Given the description of an element on the screen output the (x, y) to click on. 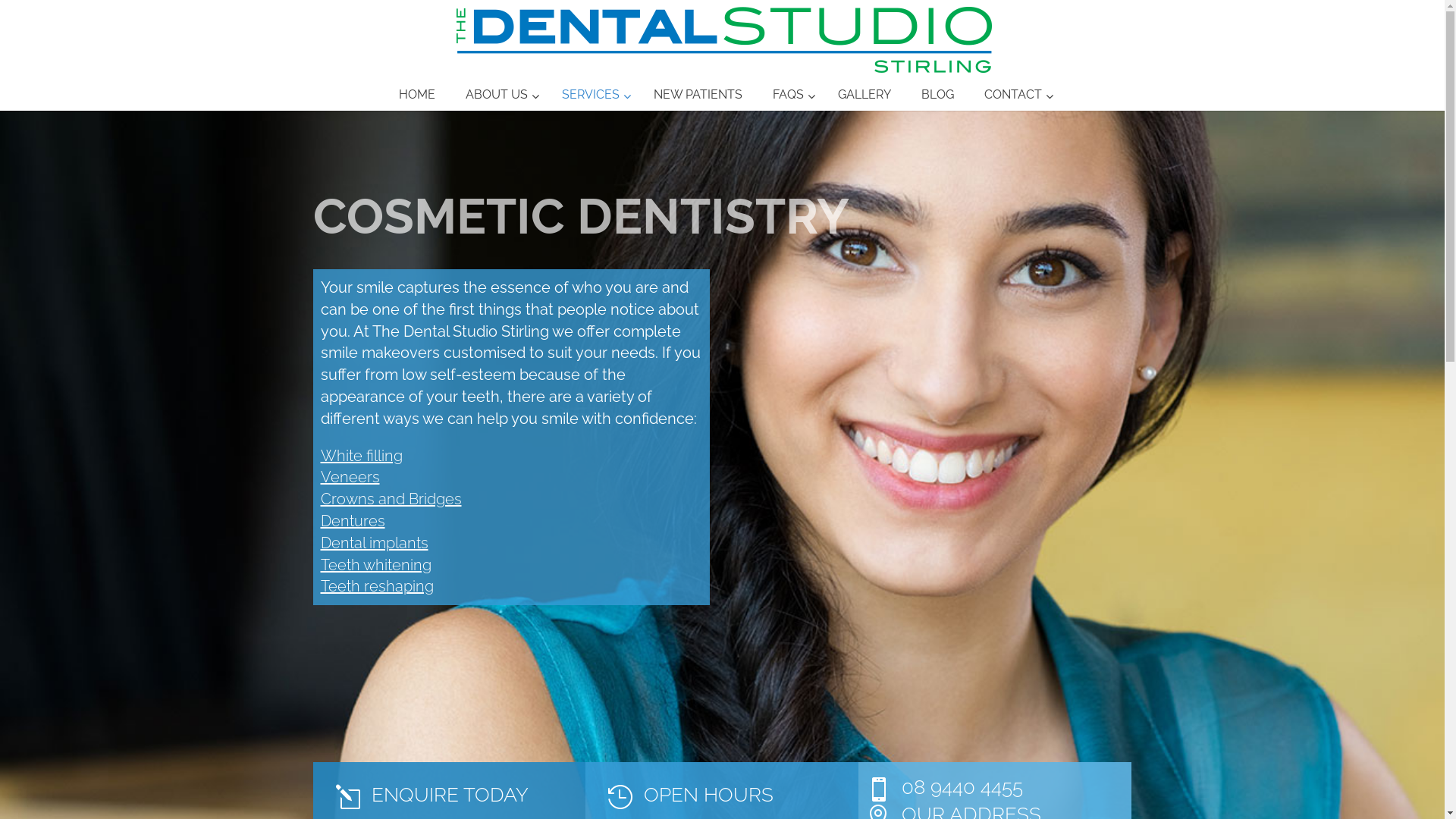
NEW PATIENTS Element type: text (697, 94)
SERVICES Element type: text (592, 94)
08 9440 4455 Element type: text (961, 786)
OPEN HOURS Element type: text (708, 794)
Teeth reshaping Element type: text (376, 586)
Dentures Element type: text (352, 520)
HOME Element type: text (416, 94)
GALLERY Element type: text (864, 94)
ABOUT US Element type: text (498, 94)
Teeth whitening Element type: text (375, 564)
Veneers Element type: text (349, 476)
Dental implants Element type: text (373, 542)
CONTACT Element type: text (1014, 94)
FAQS Element type: text (789, 94)
Crowns and Bridges Element type: text (390, 498)
White filling Element type: text (360, 455)
BLOG Element type: text (937, 94)
